Given the description of an element on the screen output the (x, y) to click on. 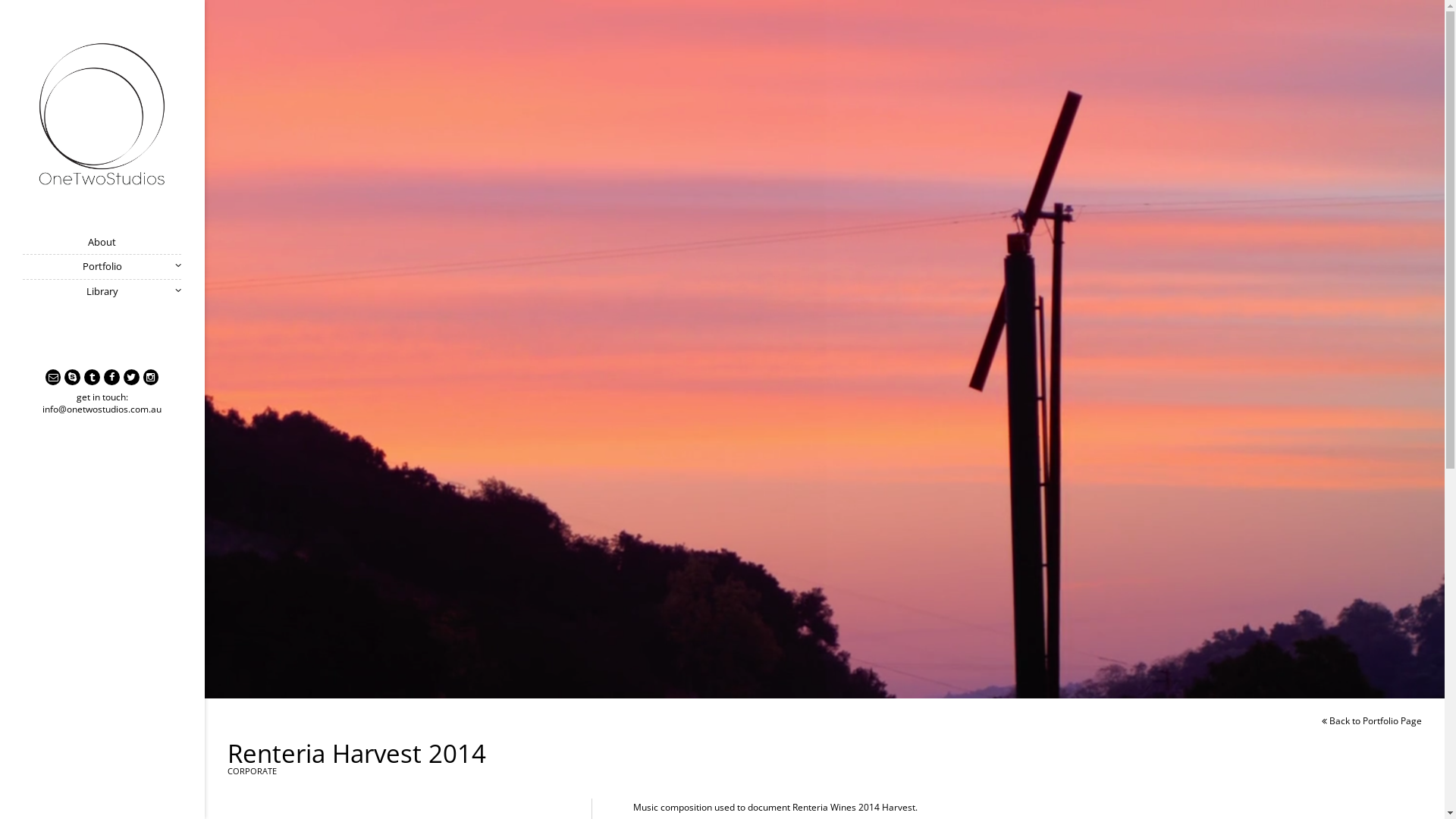
Library Element type: text (102, 291)
info@onetwostudios.com.au Element type: text (101, 408)
About Element type: text (101, 242)
Portfolio Element type: text (101, 266)
Back to Portfolio Page Element type: text (1371, 720)
Renteria Wines Element type: text (823, 806)
